Given the description of an element on the screen output the (x, y) to click on. 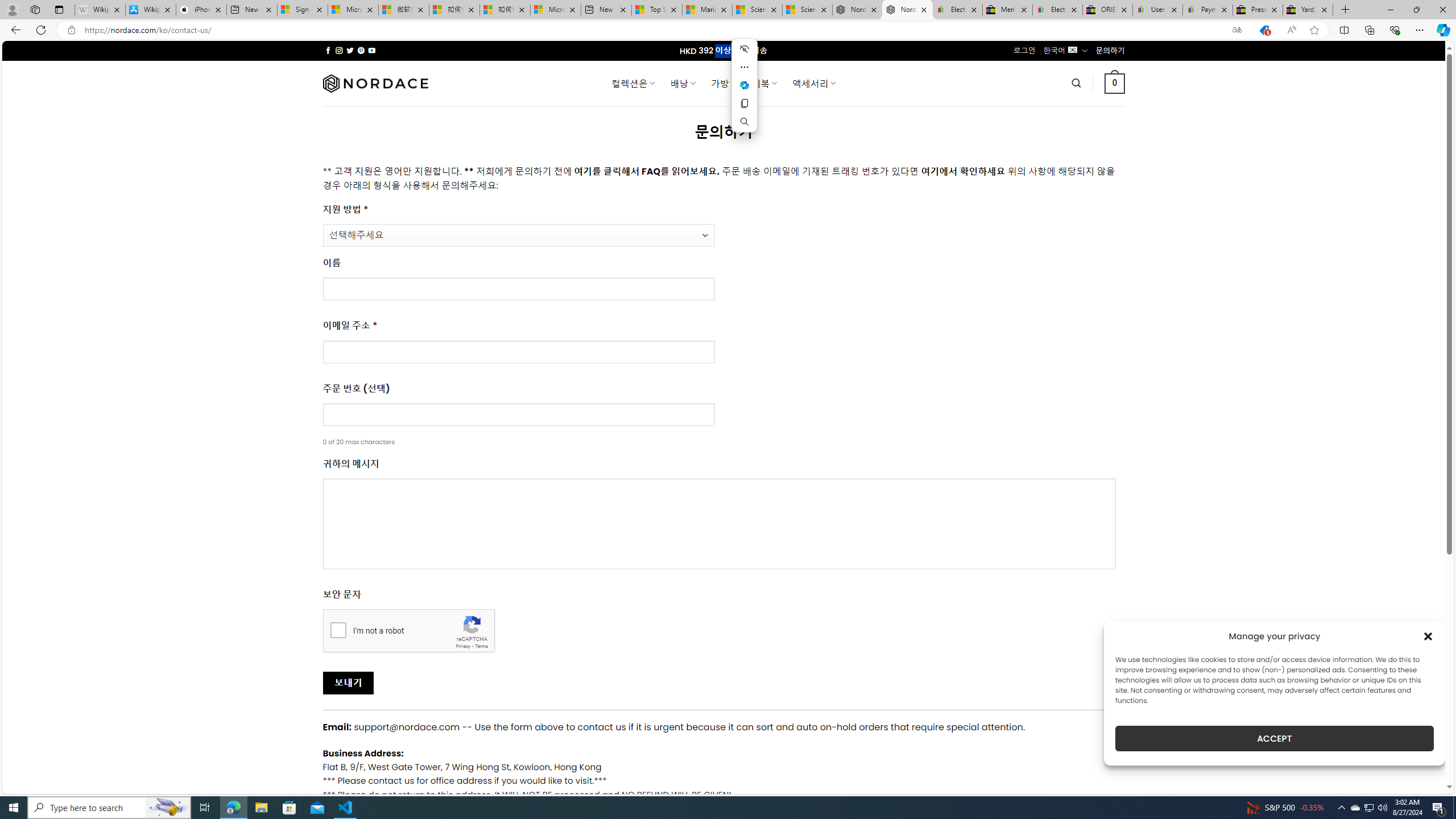
Ask Copilot (744, 85)
Refresh (40, 29)
Mini menu on text selection (744, 84)
Yard, Garden & Outdoor Living (1308, 9)
Back (13, 29)
Mini menu on text selection (743, 91)
This site has coupons! Shopping in Microsoft Edge, 5 (1263, 29)
I'm not a robot (338, 629)
